Given the description of an element on the screen output the (x, y) to click on. 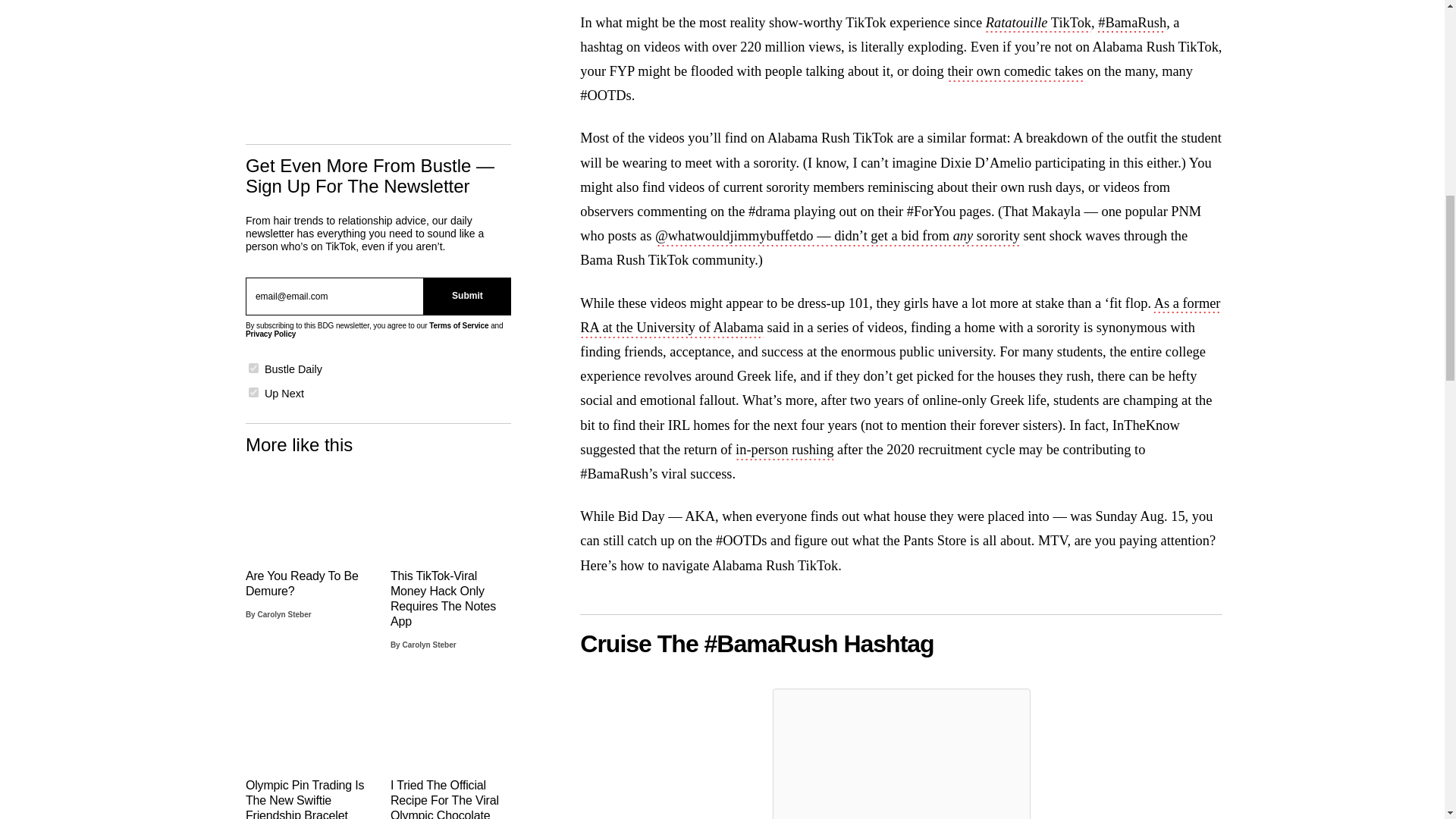
in-person rushing (783, 451)
Privacy Policy (270, 334)
Ratatouille TikTok (1037, 24)
Terms of Service (458, 325)
their own comedic takes (1015, 72)
As a former RA at the University of Alabama (899, 316)
Submit (467, 296)
